Given the description of an element on the screen output the (x, y) to click on. 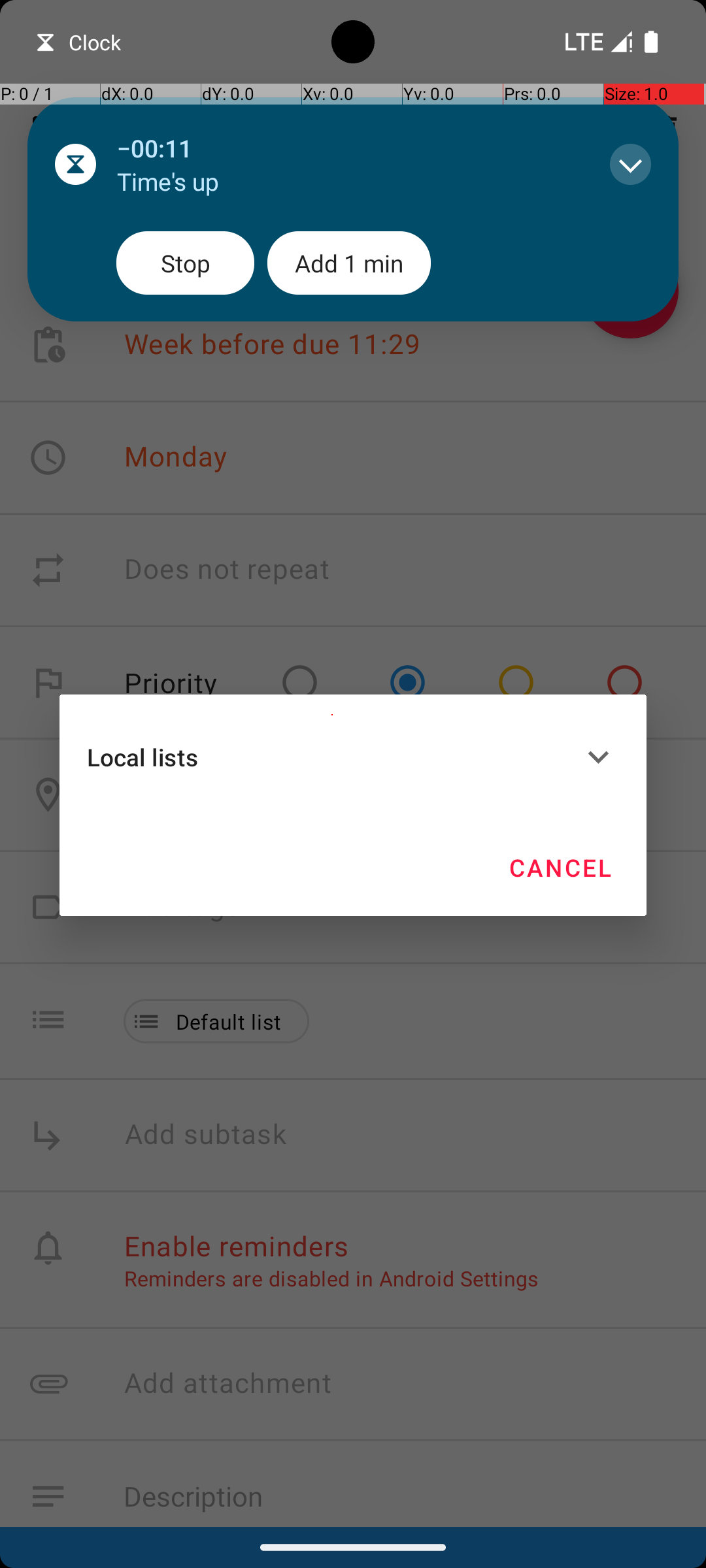
−00:11 Element type: android.widget.Chronometer (349, 147)
Time's up Element type: android.widget.TextView (349, 180)
Add 1 min Element type: android.widget.Button (348, 262)
